Given the description of an element on the screen output the (x, y) to click on. 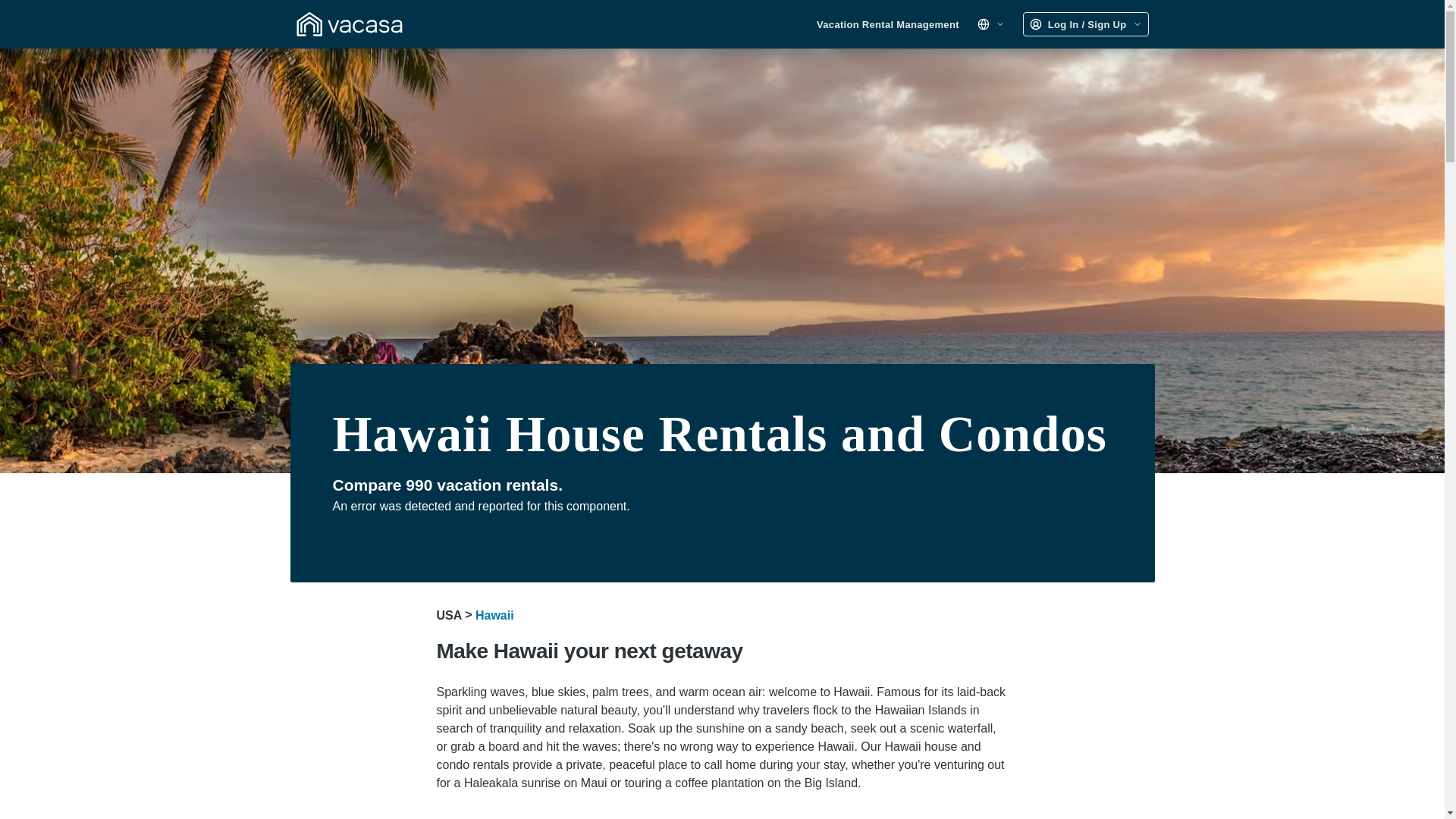
Hawaii (494, 615)
Vacation Rental Management (887, 24)
